Given the description of an element on the screen output the (x, y) to click on. 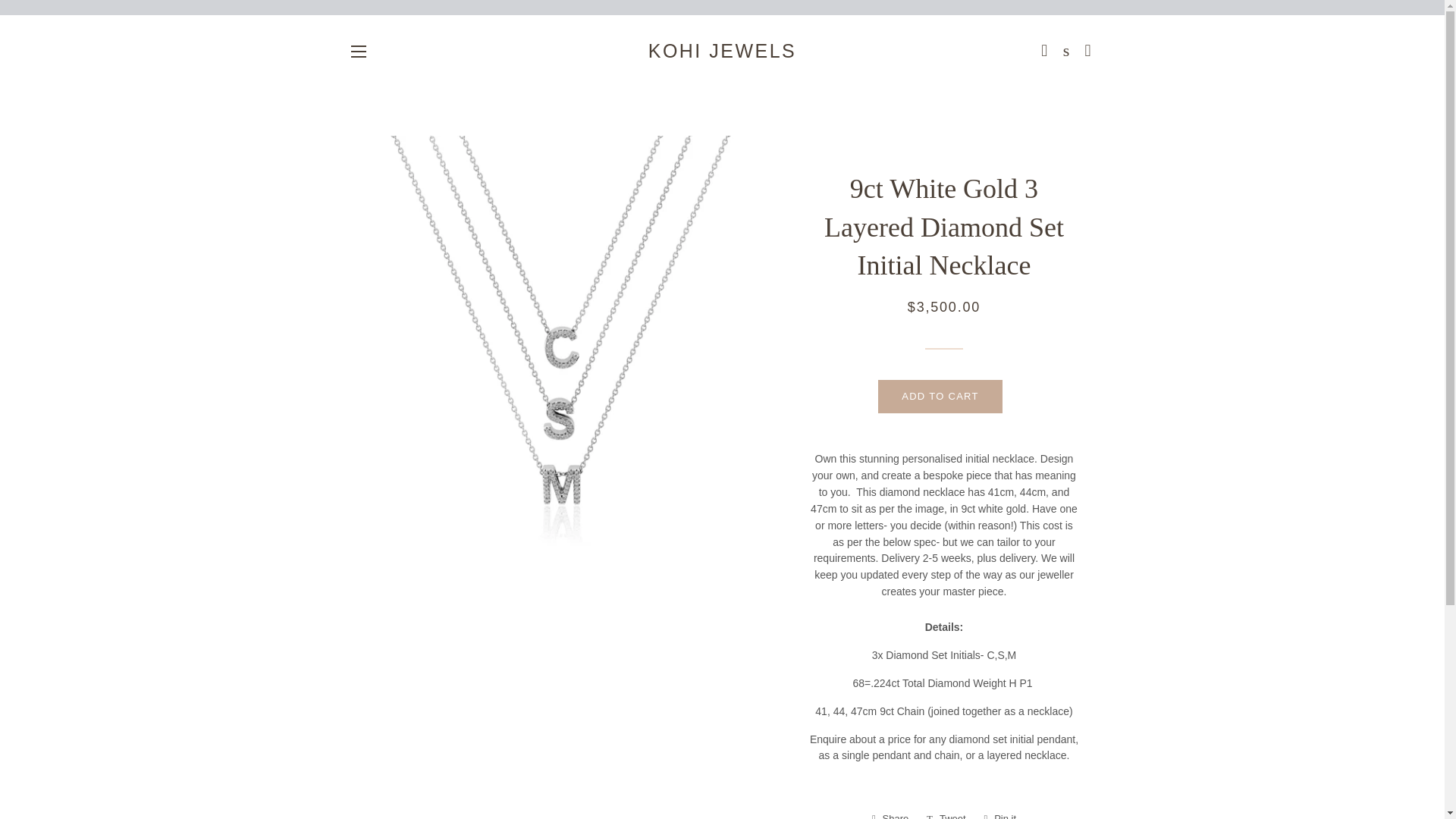
Share on Facebook (889, 813)
Tweet on Twitter (946, 813)
Pin on Pinterest (1000, 813)
